Given the description of an element on the screen output the (x, y) to click on. 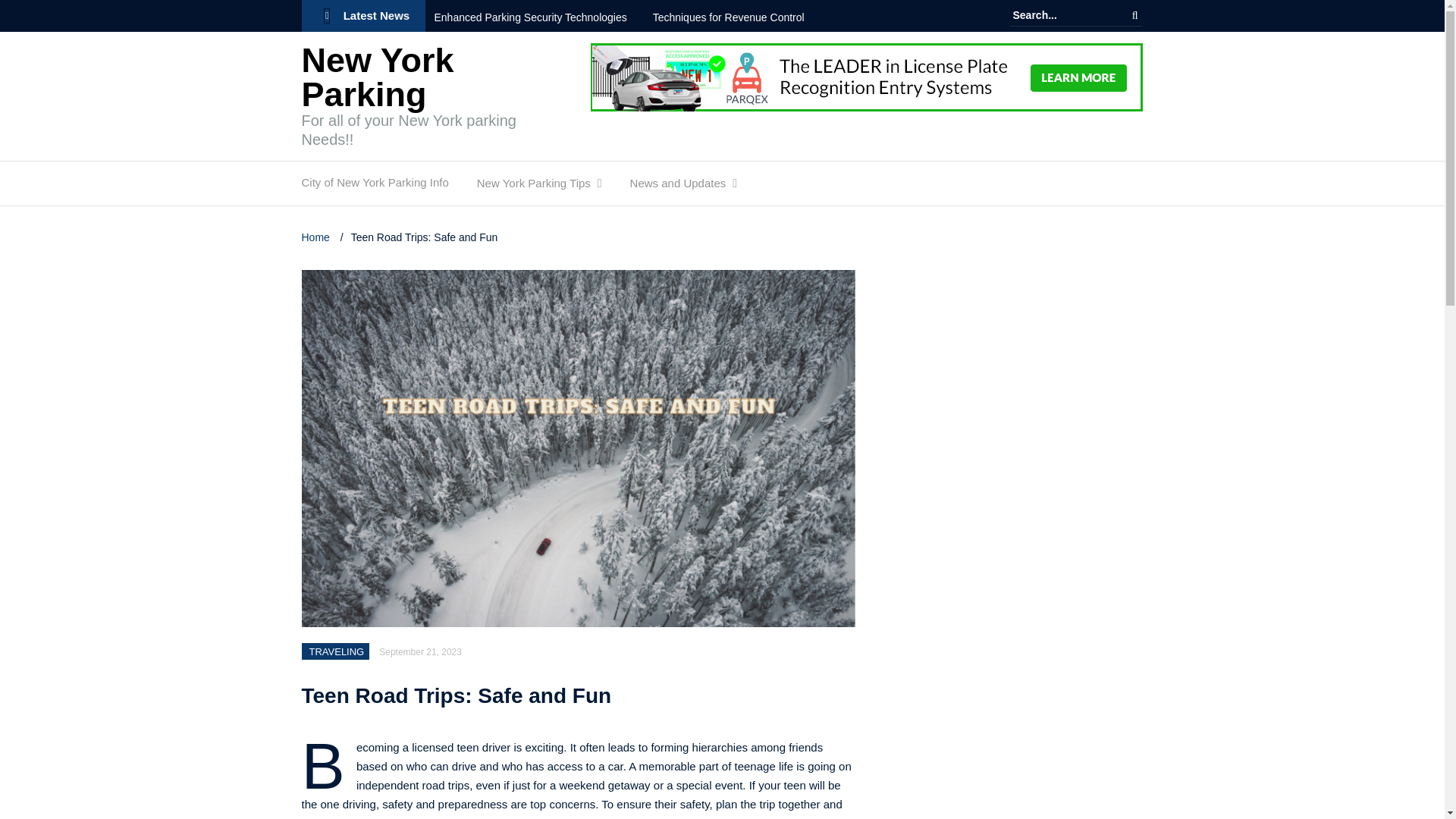
Search   (1134, 14)
TRAVELING (336, 651)
City of New York Parking Info (374, 185)
Enhanced Parking Security Technologies (541, 17)
New York Parking (377, 76)
Techniques for Revenue Control (739, 17)
New York Parking Tips (534, 186)
Home (317, 236)
News and Updates (678, 186)
